Given the description of an element on the screen output the (x, y) to click on. 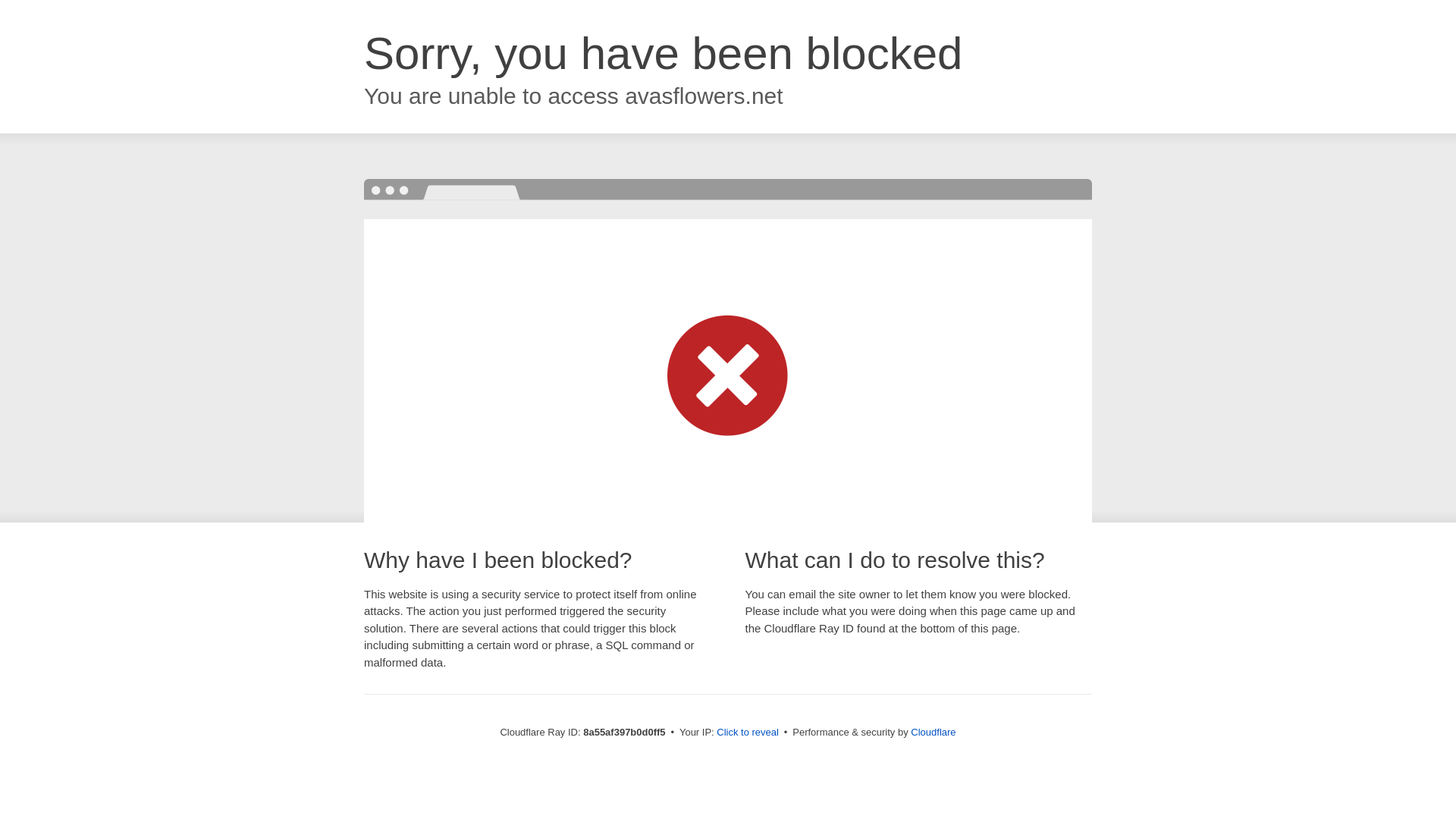
Cloudflare (933, 731)
Click to reveal (747, 732)
